Given the description of an element on the screen output the (x, y) to click on. 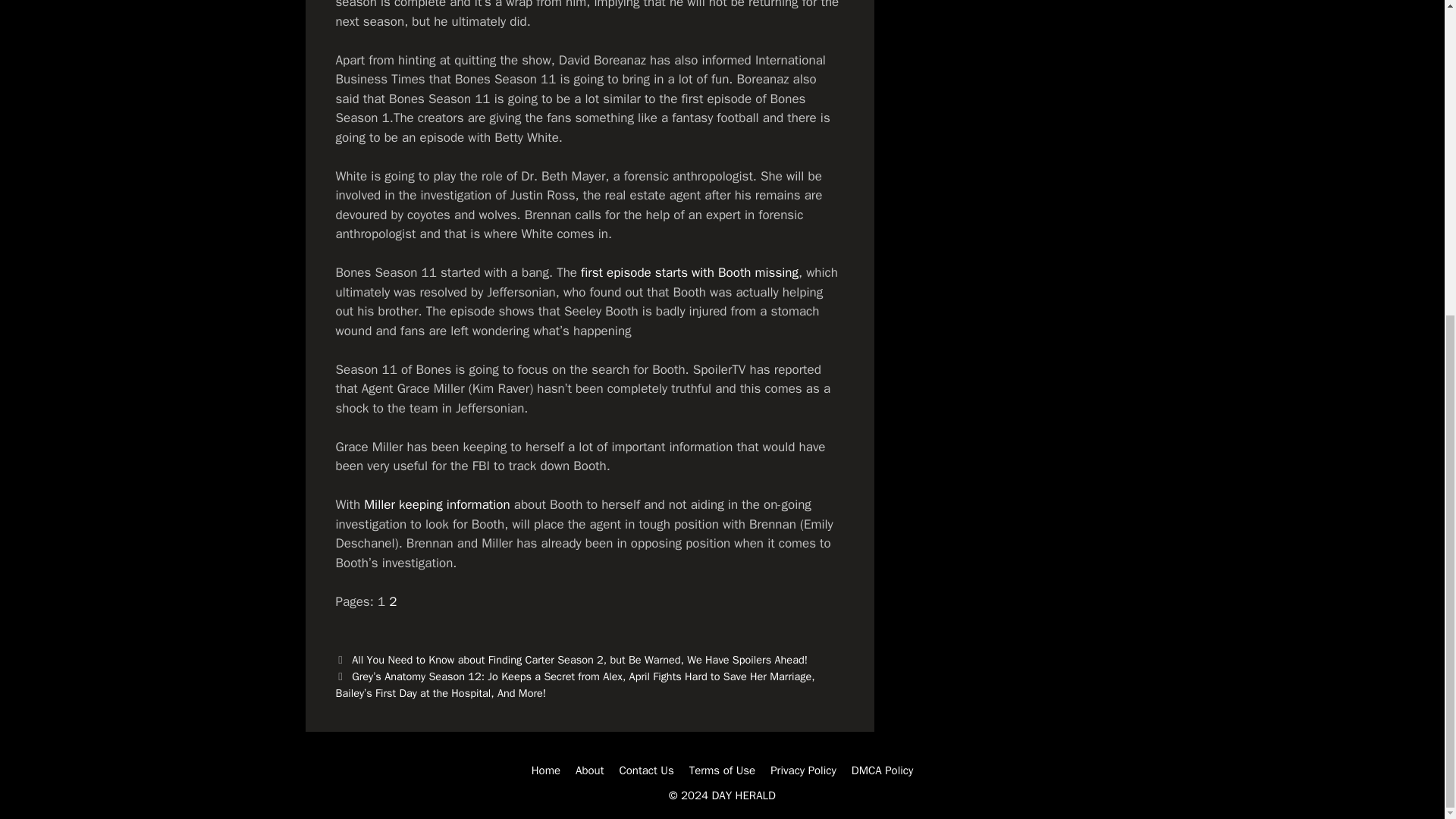
first episode starts with Booth missing (688, 272)
Miller keeping information (436, 504)
Privacy Policy (802, 770)
Home (545, 770)
DMCA Policy (882, 770)
About (589, 770)
Terms of Use (721, 770)
Contact Us (645, 770)
